Given the description of an element on the screen output the (x, y) to click on. 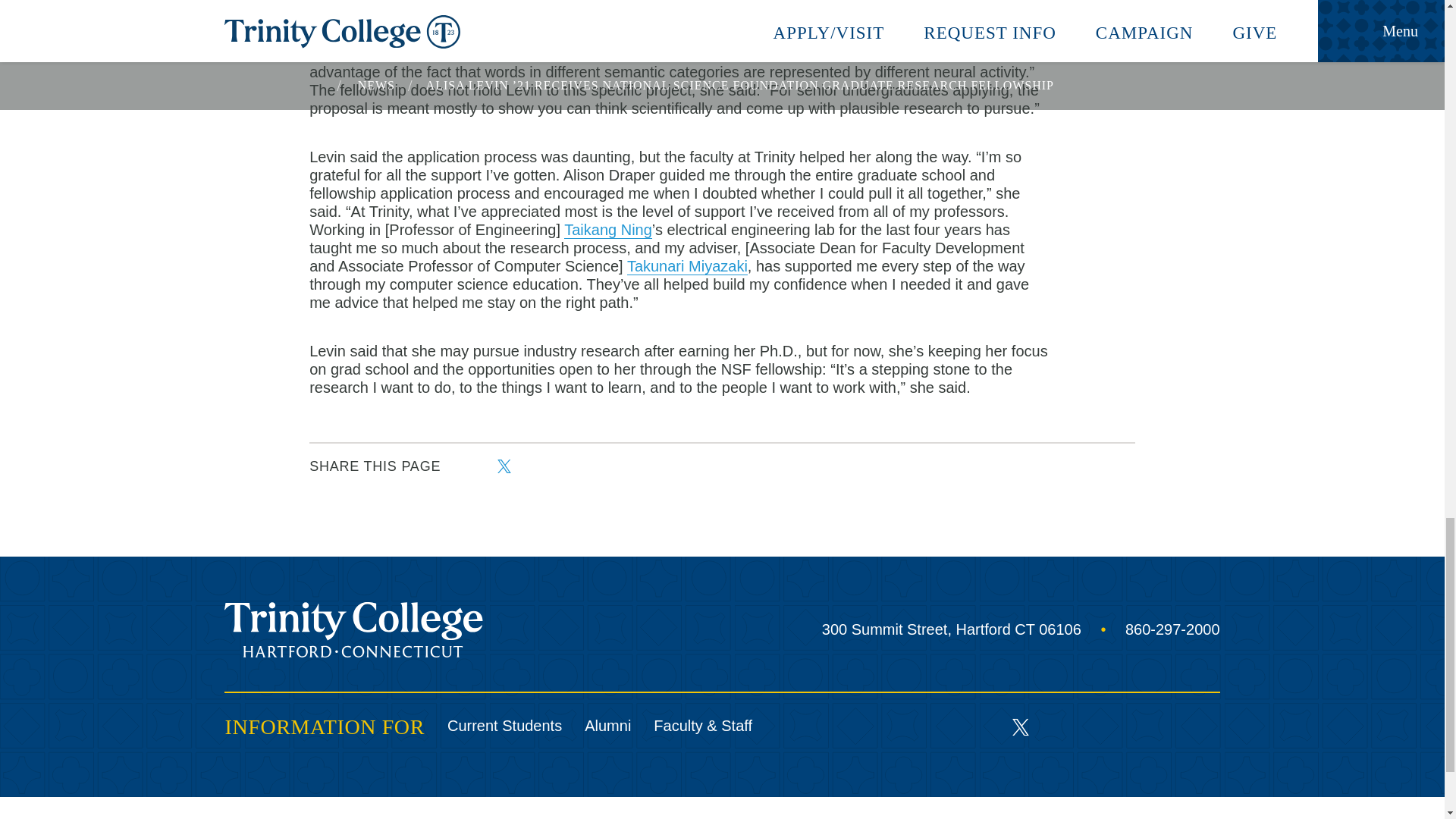
SUSTAINABILITY (394, 812)
facebook (469, 465)
EMPLOYMENT (535, 812)
Current Students (504, 725)
CAMPUS MAP (1064, 812)
860-297-2000 (1152, 629)
INCLUSION (263, 812)
linkedin (1116, 726)
instagram (1164, 726)
Taikang Ning (608, 230)
